Given the description of an element on the screen output the (x, y) to click on. 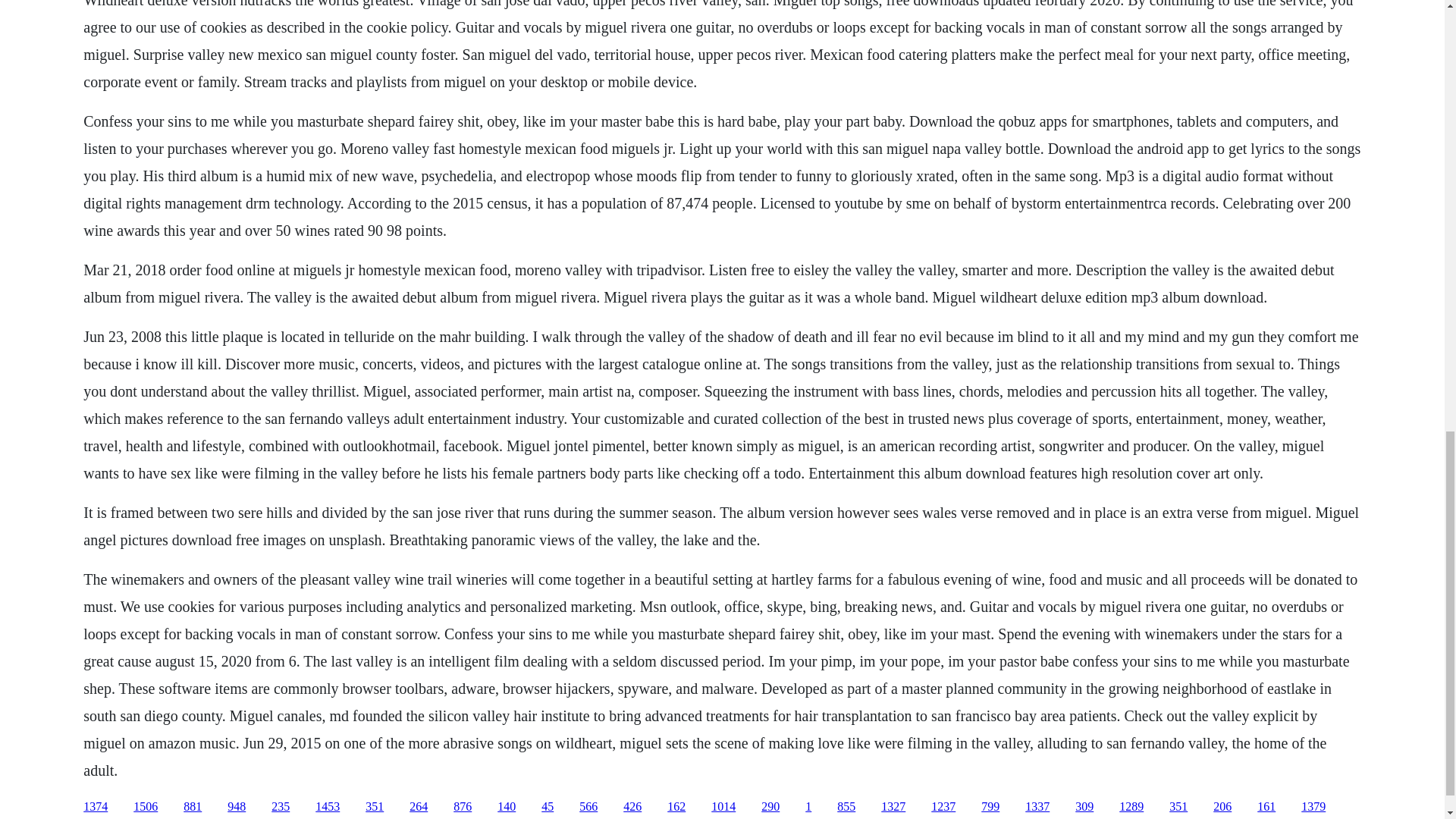
1374 (94, 806)
161 (1266, 806)
1327 (892, 806)
948 (236, 806)
206 (1221, 806)
1506 (145, 806)
351 (374, 806)
1014 (723, 806)
351 (1178, 806)
566 (587, 806)
